Given the description of an element on the screen output the (x, y) to click on. 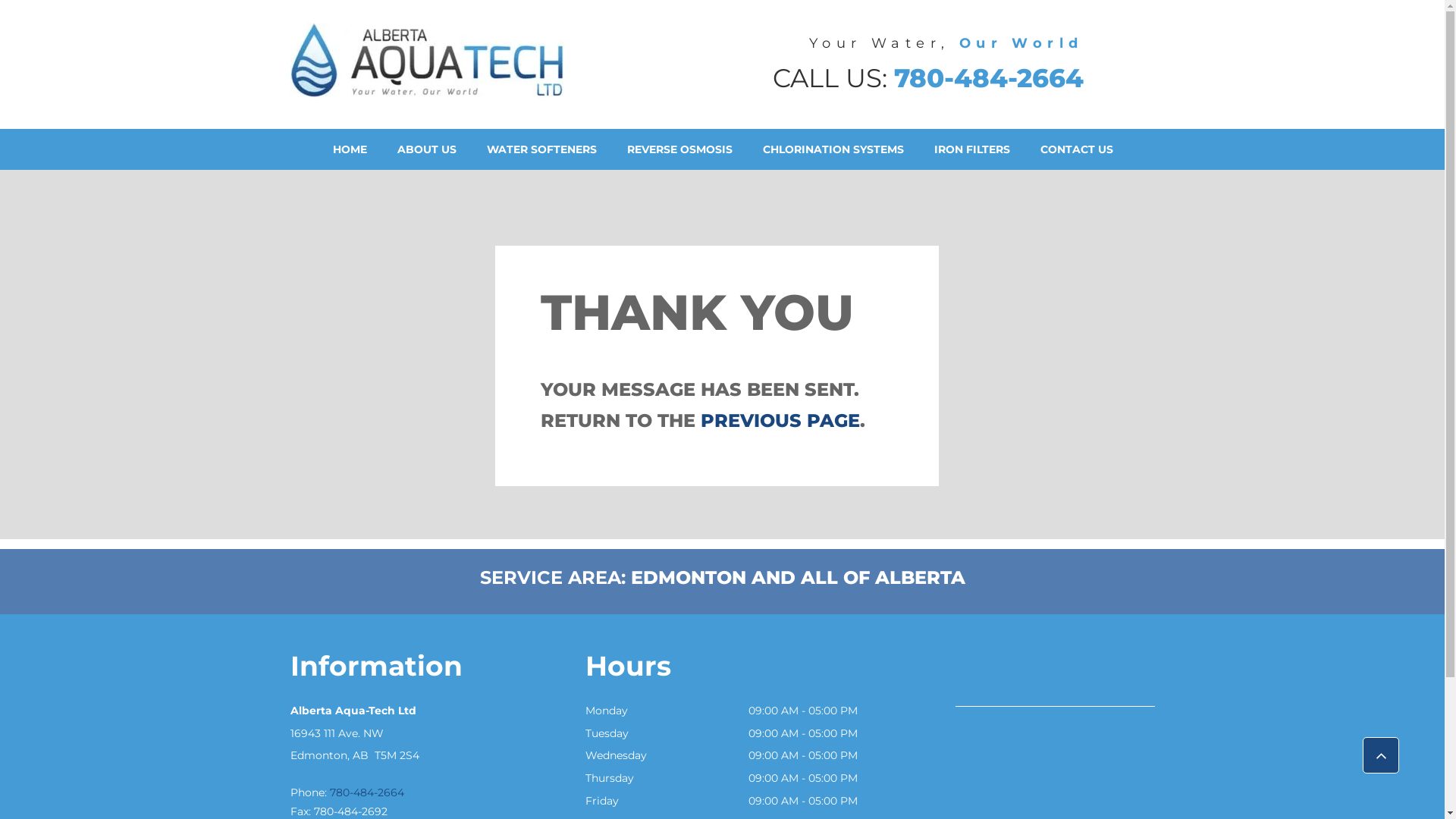
780-484-2664 Element type: text (366, 792)
CONTACT US Element type: text (1076, 149)
ABOUT US Element type: text (426, 149)
PREVIOUS PAGE Element type: text (779, 420)
REVERSE OSMOSIS Element type: text (678, 149)
780-484-2664 Element type: text (987, 78)
IRON FILTERS Element type: text (972, 149)
HOME Element type: text (348, 149)
CHLORINATION SYSTEMS Element type: text (833, 149)
WATER SOFTENERS Element type: text (541, 149)
